Given the description of an element on the screen output the (x, y) to click on. 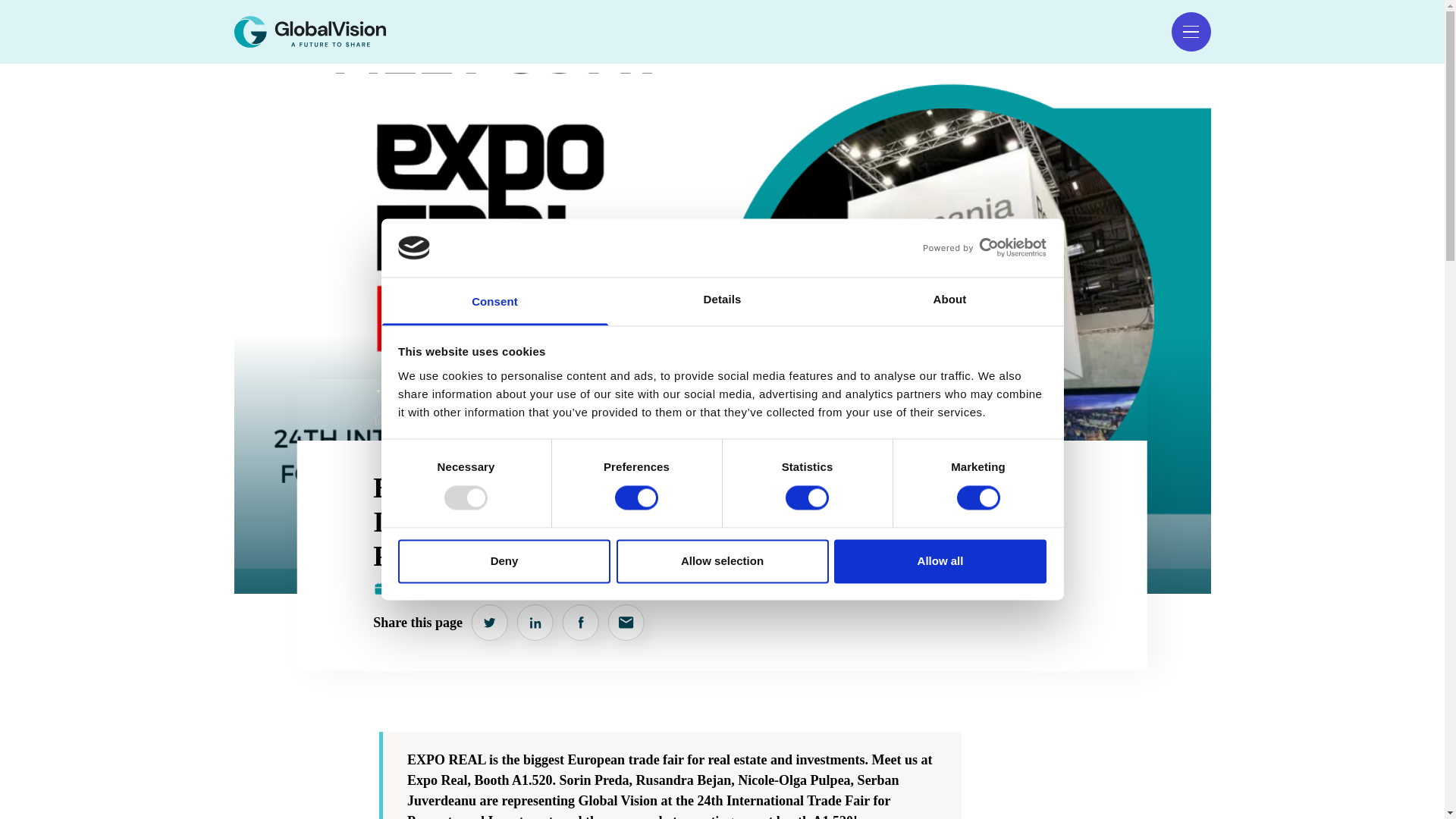
Consent (494, 301)
Allow all (940, 560)
Allow selection (721, 560)
Details (721, 301)
Deny (503, 560)
About (948, 301)
